Given the description of an element on the screen output the (x, y) to click on. 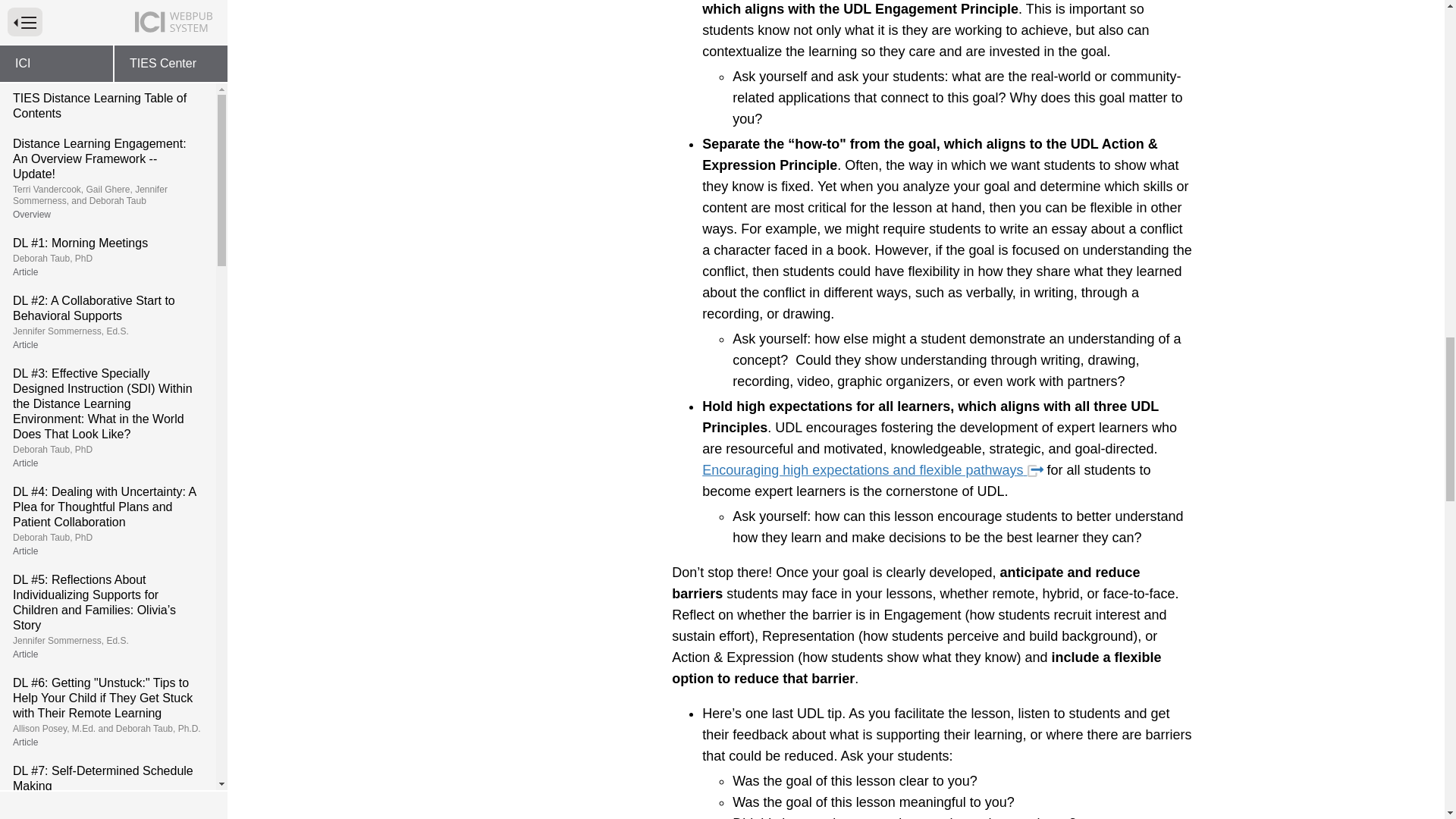
Opens an external site or resource (1035, 470)
